Given the description of an element on the screen output the (x, y) to click on. 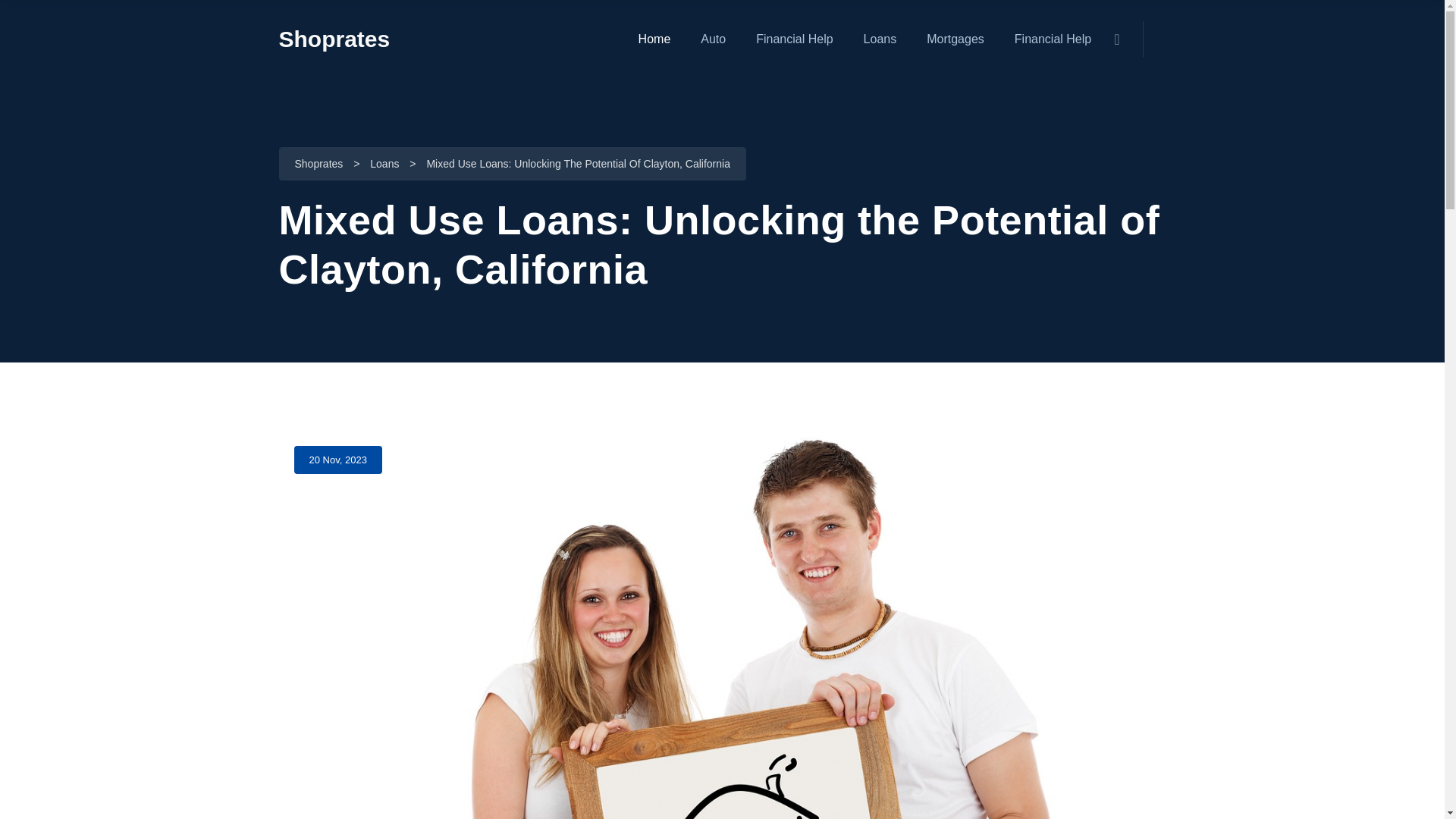
Loans (879, 39)
Go to the Loans Category archives. (383, 164)
Financial Help (793, 39)
Mortgages (955, 39)
Financial Help (1052, 39)
Shoprates (334, 38)
Go to Shoprates. (318, 164)
Auto (712, 39)
Home (655, 39)
